Given the description of an element on the screen output the (x, y) to click on. 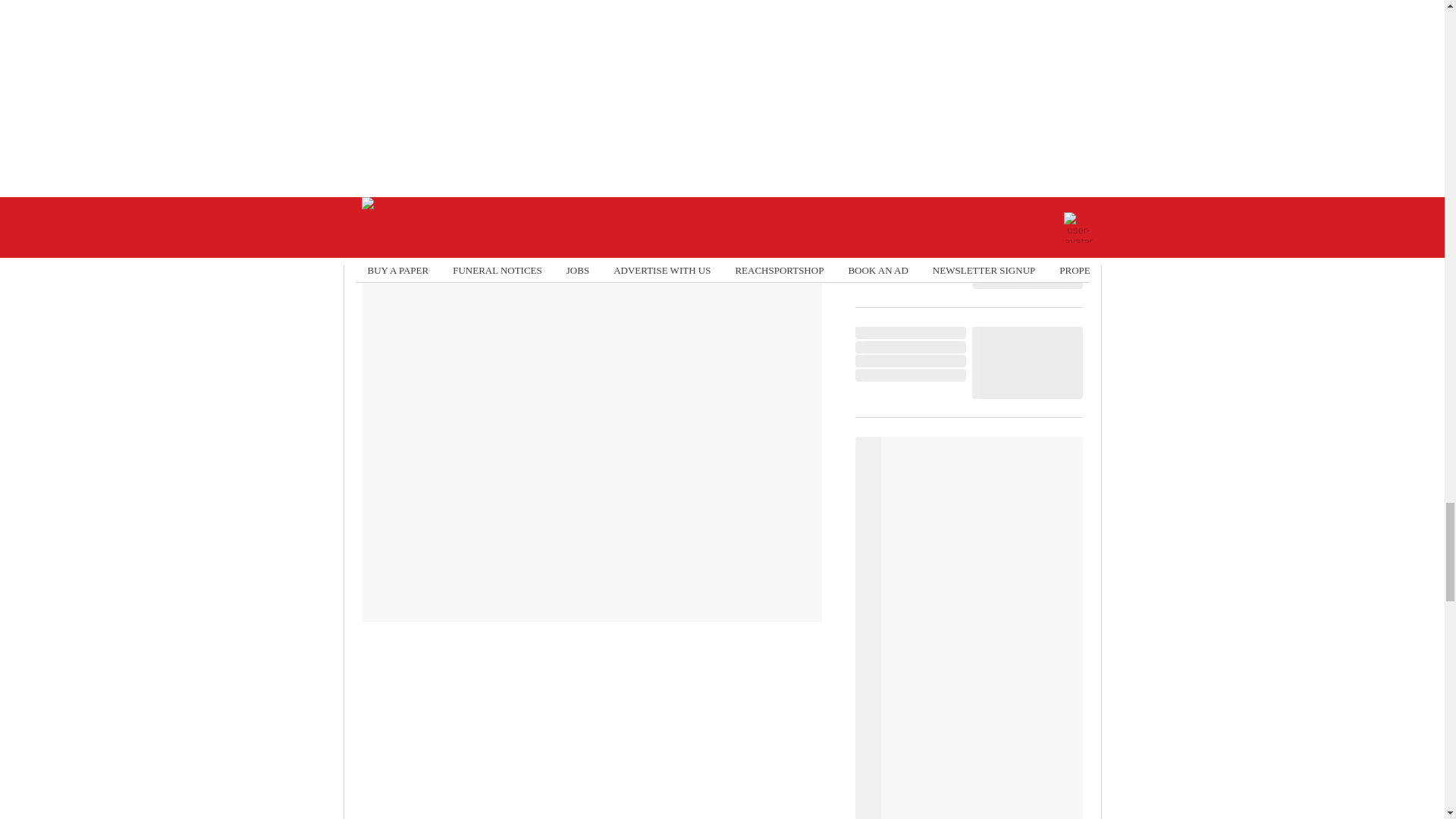
Twitter (533, 209)
Facebook (421, 209)
Instagram (646, 209)
